Given the description of an element on the screen output the (x, y) to click on. 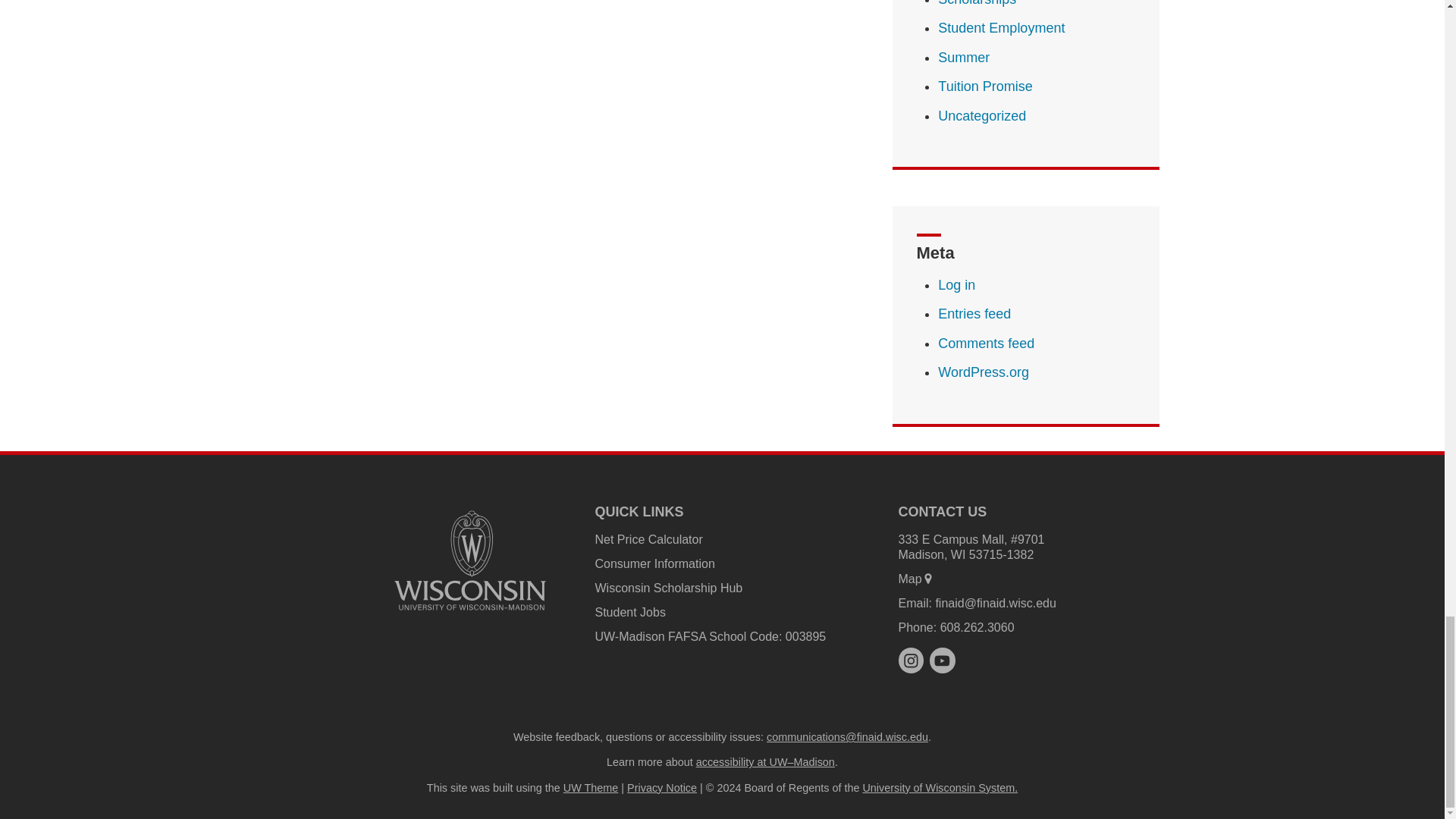
map marker (927, 578)
University logo that links to main university website (470, 560)
instagram (910, 660)
youtube (941, 660)
